Given the description of an element on the screen output the (x, y) to click on. 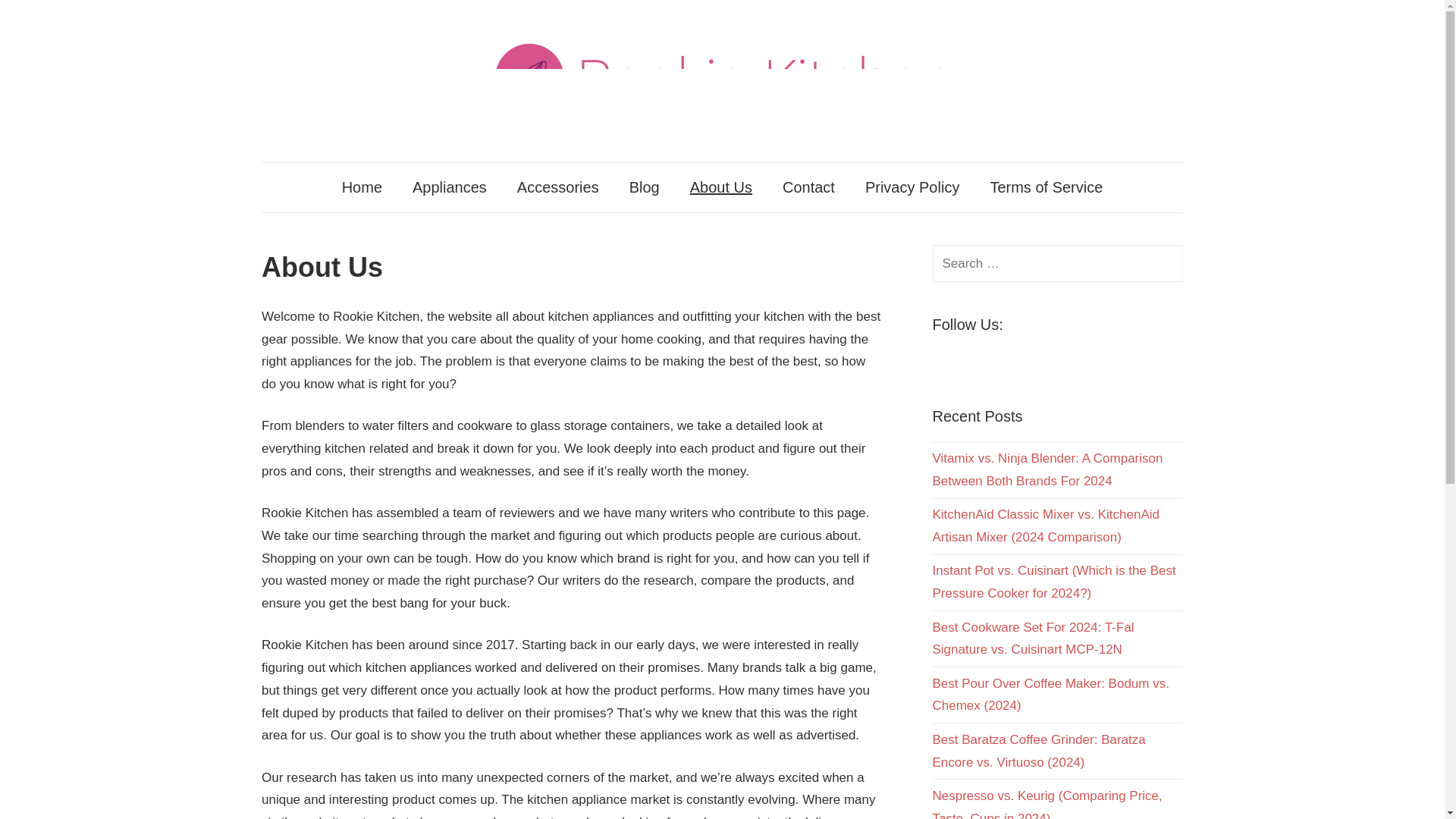
Blog (644, 186)
Contact (808, 186)
About Us (721, 186)
Search for: (1058, 262)
Accessories (558, 186)
Privacy Policy (912, 186)
Terms of Service (1046, 186)
